Given the description of an element on the screen output the (x, y) to click on. 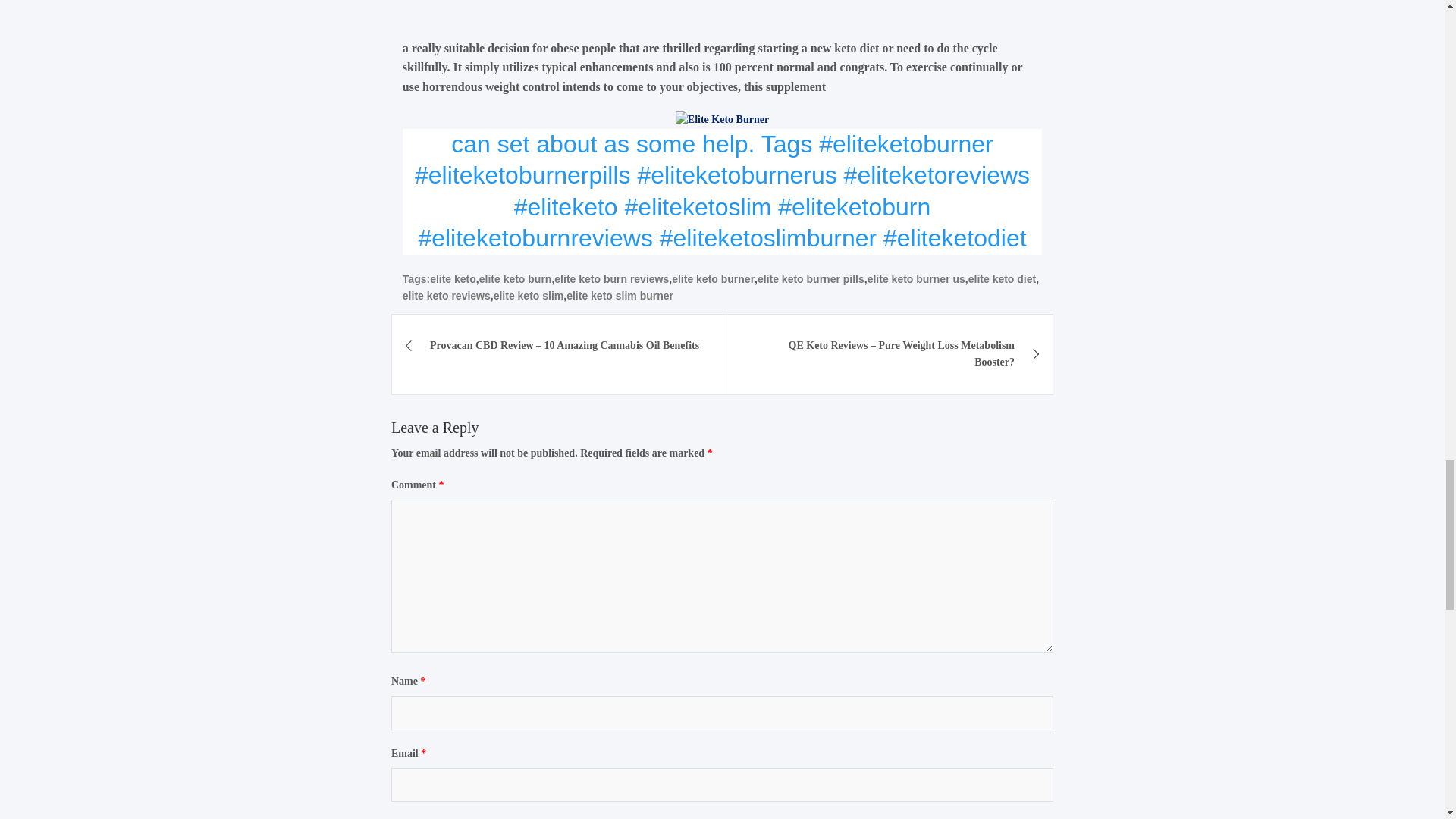
Elite Keto Burner (721, 119)
